Given the description of an element on the screen output the (x, y) to click on. 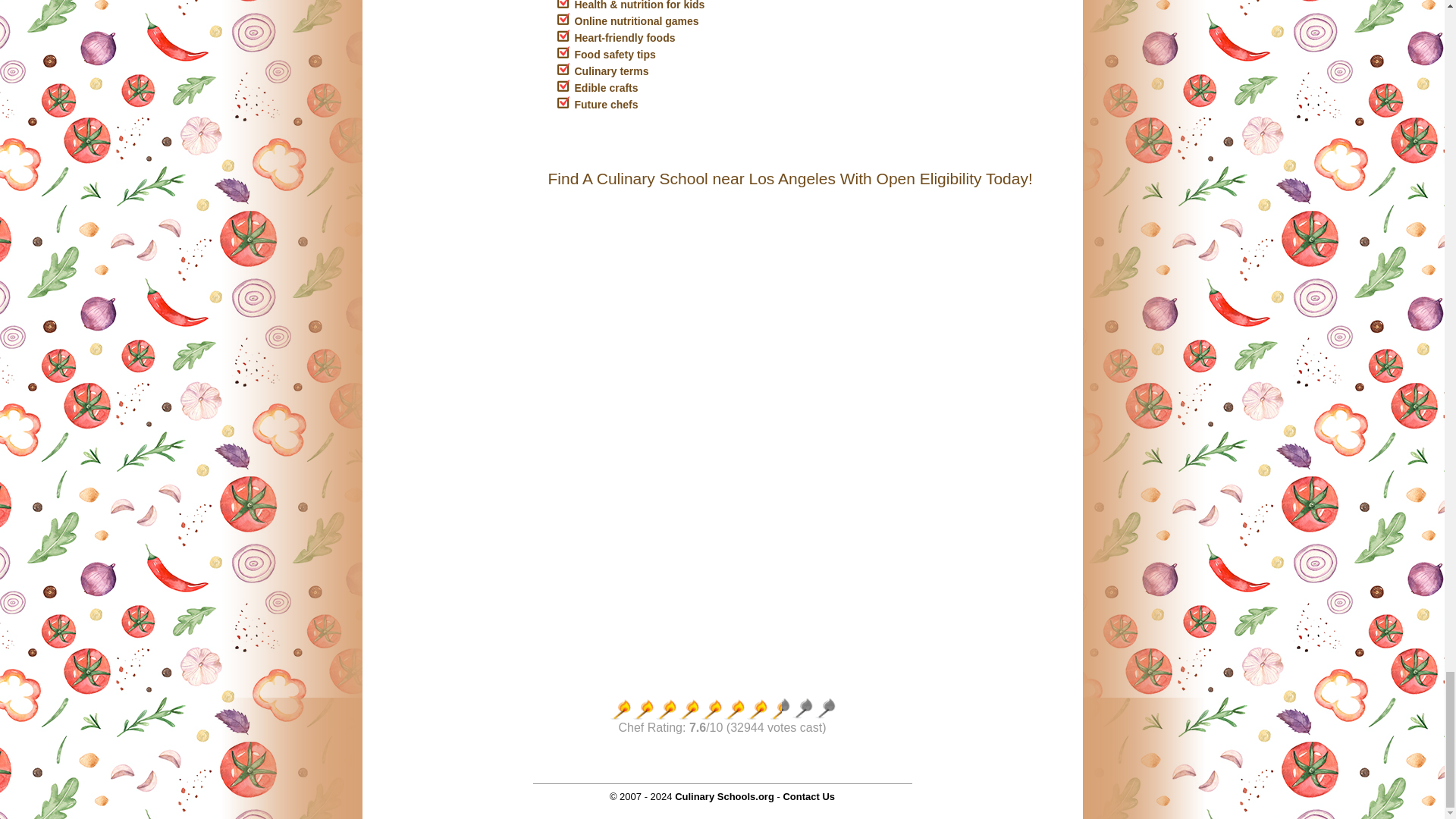
2 out of 10 (641, 708)
4 out of 10 (687, 708)
5 out of 10 (710, 708)
7 out of 10 (755, 708)
8 out of 10 (778, 708)
Culinary terms (612, 70)
Edible crafts (607, 87)
10 out of 10 (823, 708)
9 out of 10 (801, 708)
Heart-friendly foods (625, 37)
Online nutritional games (636, 21)
6 out of 10 (733, 708)
Food safety tips (615, 54)
3 out of 10 (665, 708)
Future chefs (607, 104)
